Given the description of an element on the screen output the (x, y) to click on. 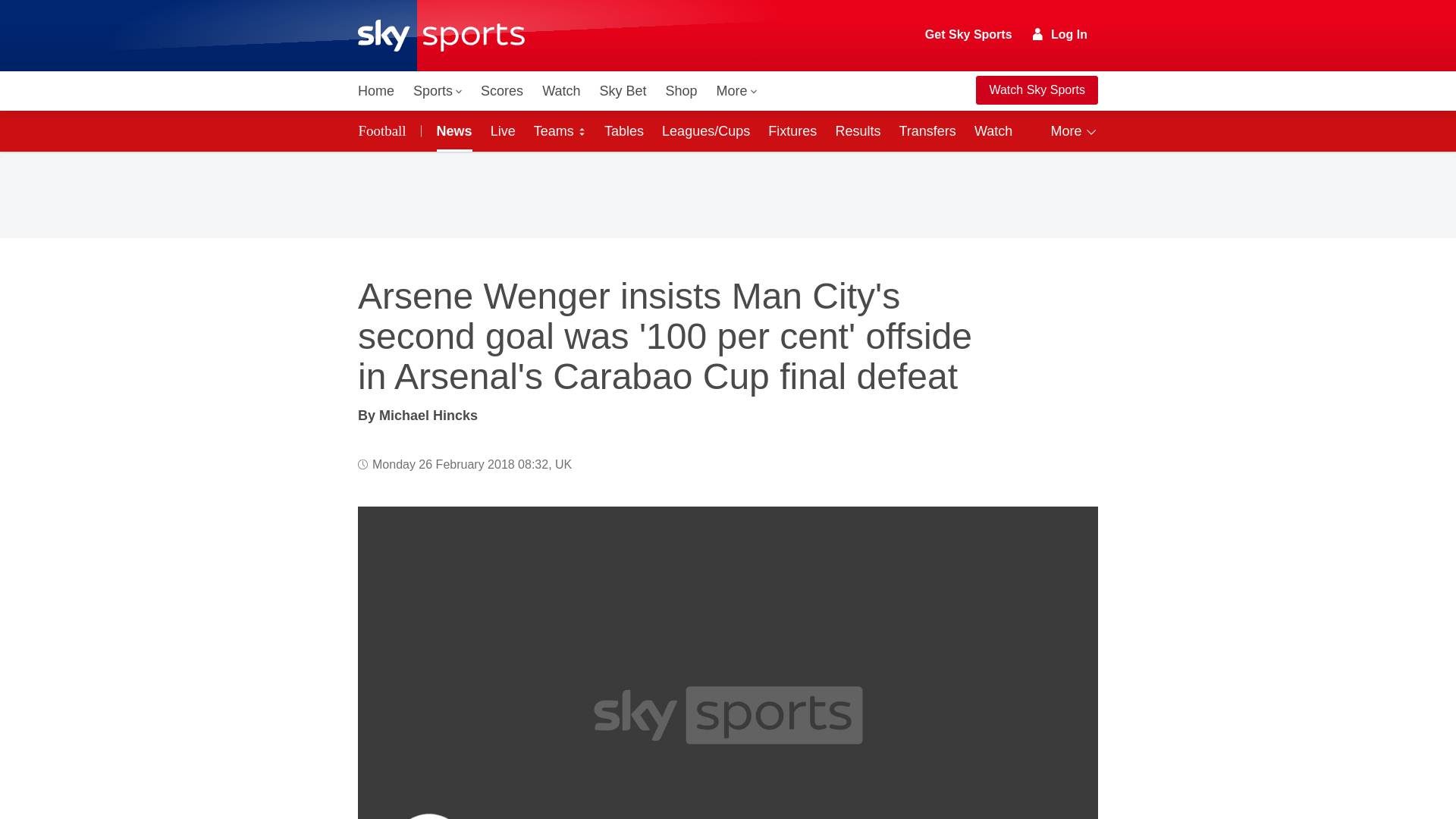
Scores (502, 91)
Sky Bet (622, 91)
Football (385, 130)
Get Sky Sports (968, 34)
More (736, 91)
Log In (1060, 33)
Share (1067, 536)
Sports (437, 91)
Shop (681, 91)
Watch (561, 91)
